Given the description of an element on the screen output the (x, y) to click on. 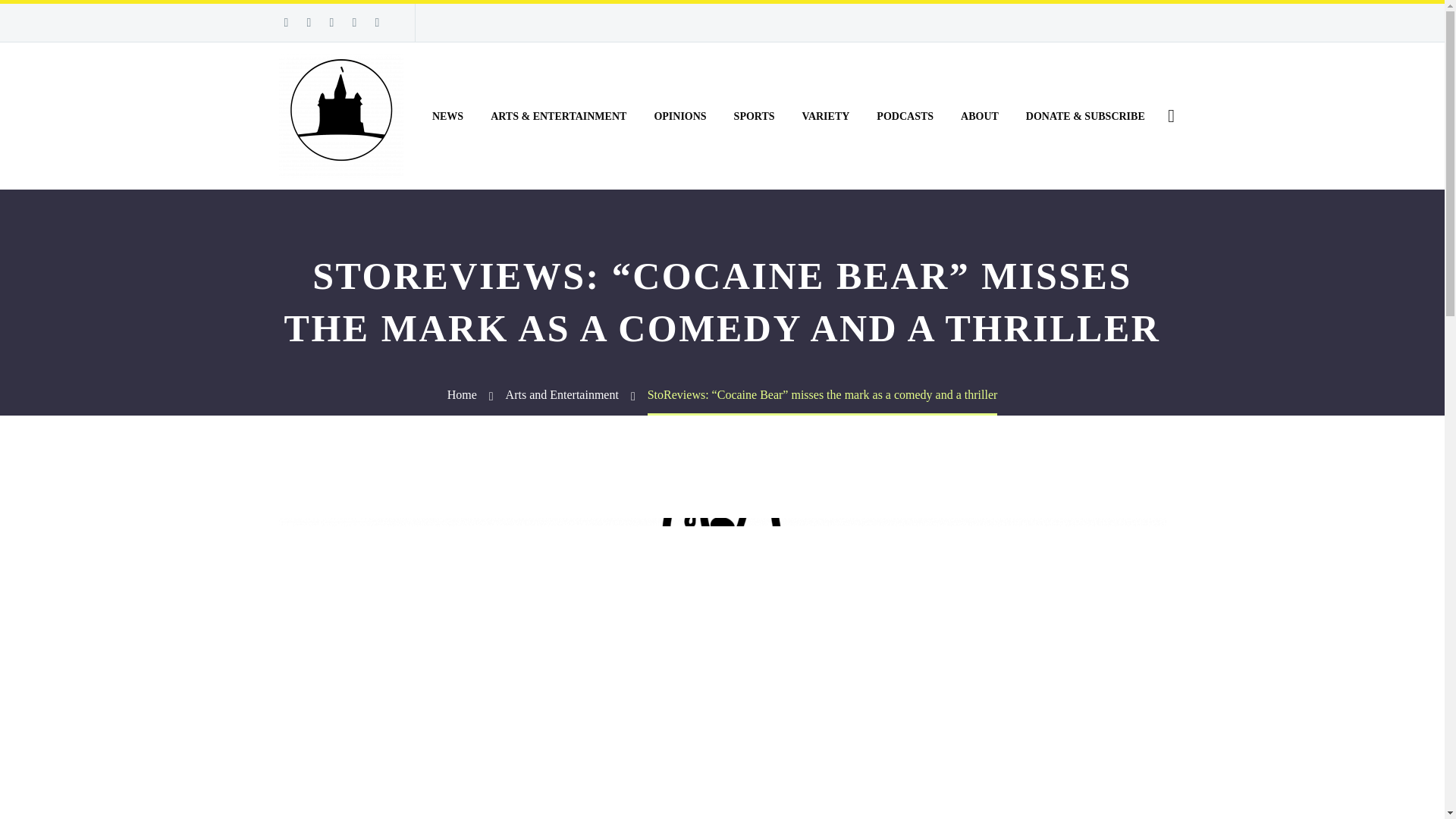
Home (461, 394)
VARIETY (825, 115)
SPORTS (754, 115)
YouTube (376, 22)
OPINIONS (679, 115)
Instagram (353, 22)
LinkedIn (308, 22)
Arts and Entertainment (561, 394)
Facebook (286, 22)
PODCASTS (904, 115)
